Given the description of an element on the screen output the (x, y) to click on. 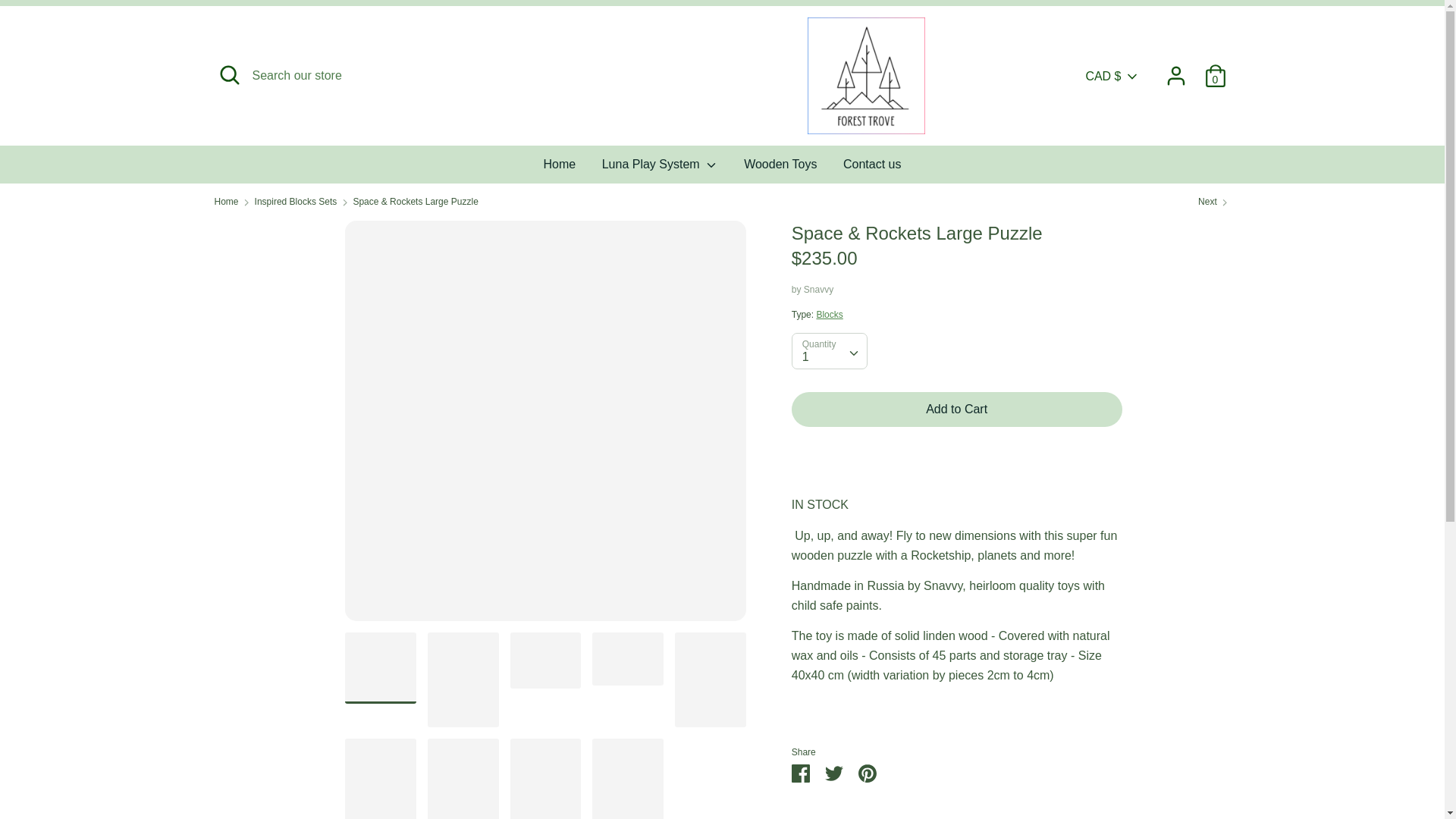
Inspired Grimm's Lara Mandala (1214, 201)
Home (560, 168)
0 (1214, 69)
Luna Play System (660, 168)
1 (829, 350)
